Given the description of an element on the screen output the (x, y) to click on. 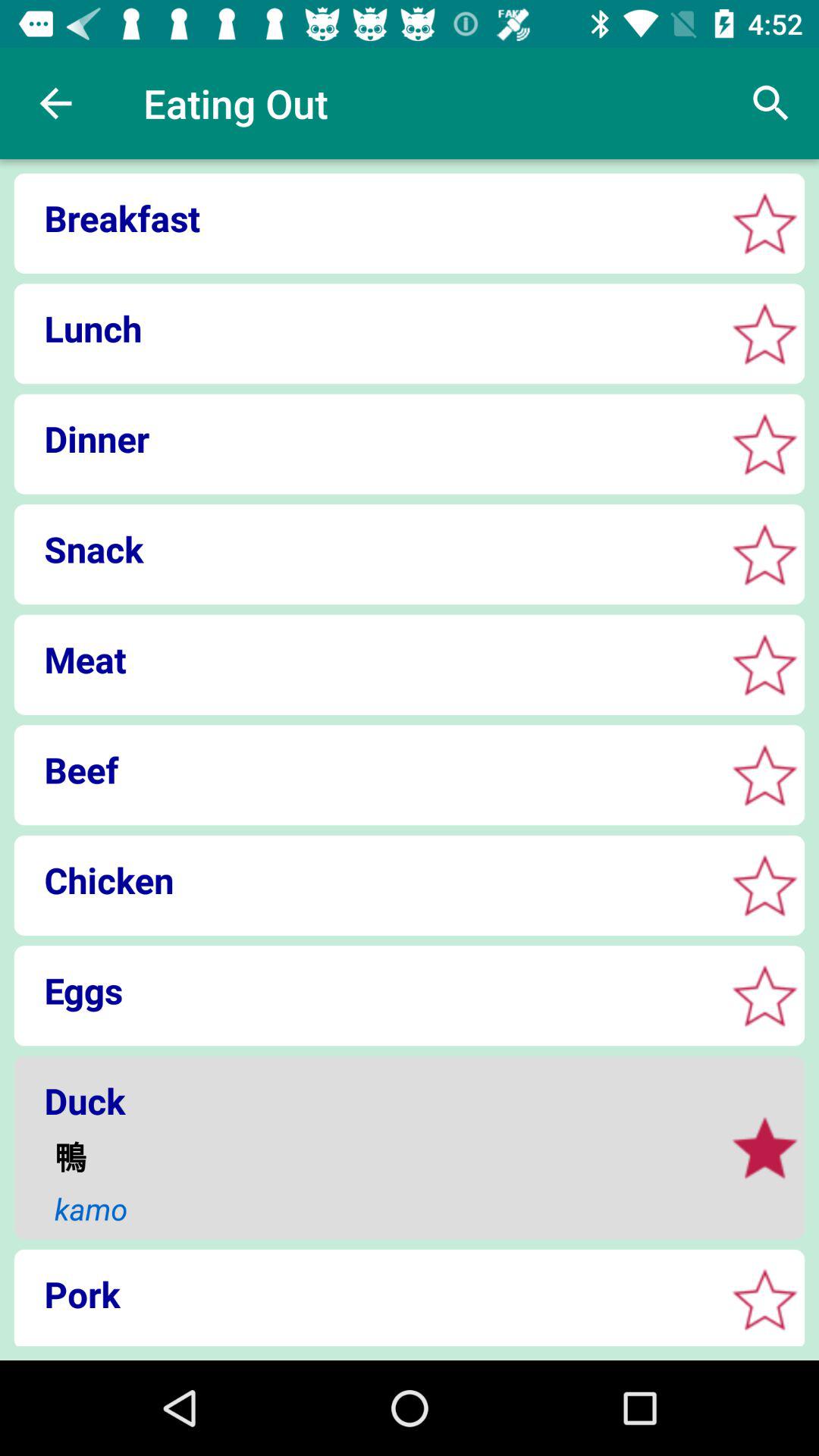
add to favorites (764, 775)
